Given the description of an element on the screen output the (x, y) to click on. 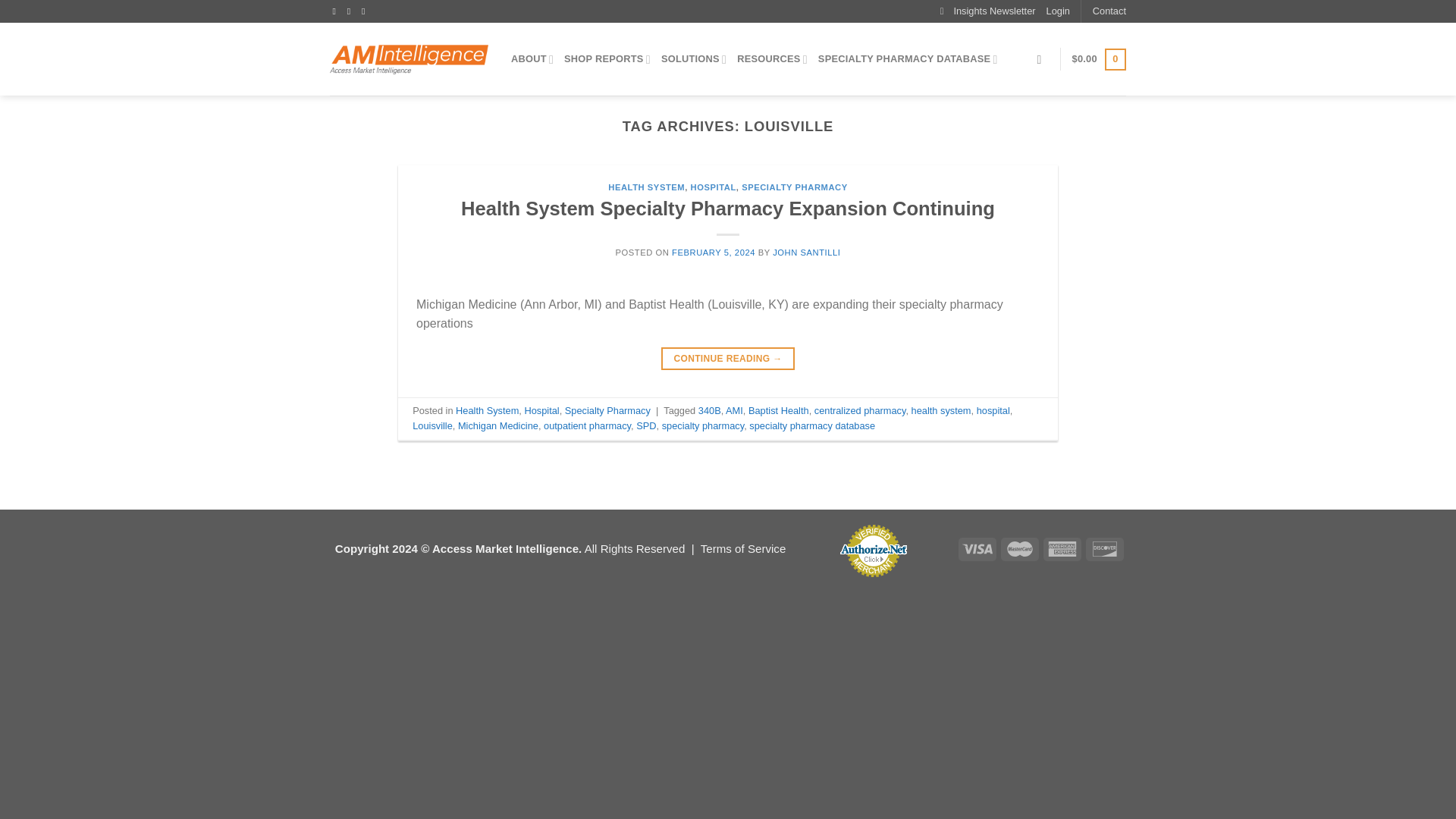
SOLUTIONS (693, 59)
RESOURCES (772, 59)
Insights Newsletter (987, 11)
Access Market Intelligence (408, 58)
Cart (1098, 59)
Login (1058, 11)
Subscribe  (987, 11)
Contact (1109, 11)
SHOP REPORTS (607, 59)
Login (1058, 11)
ABOUT (532, 59)
